Given the description of an element on the screen output the (x, y) to click on. 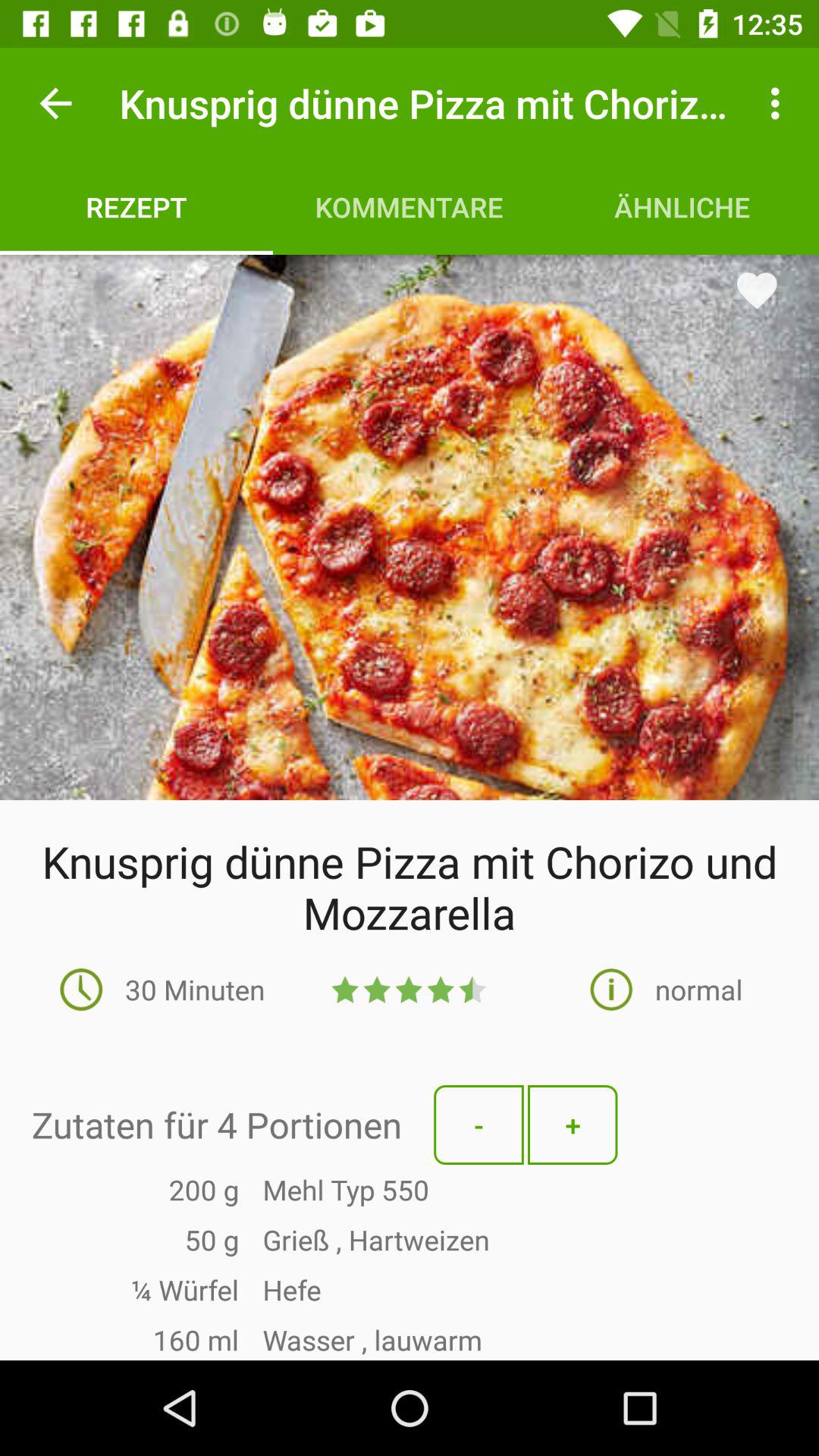
click the icon below rezept item (409, 527)
